Given the description of an element on the screen output the (x, y) to click on. 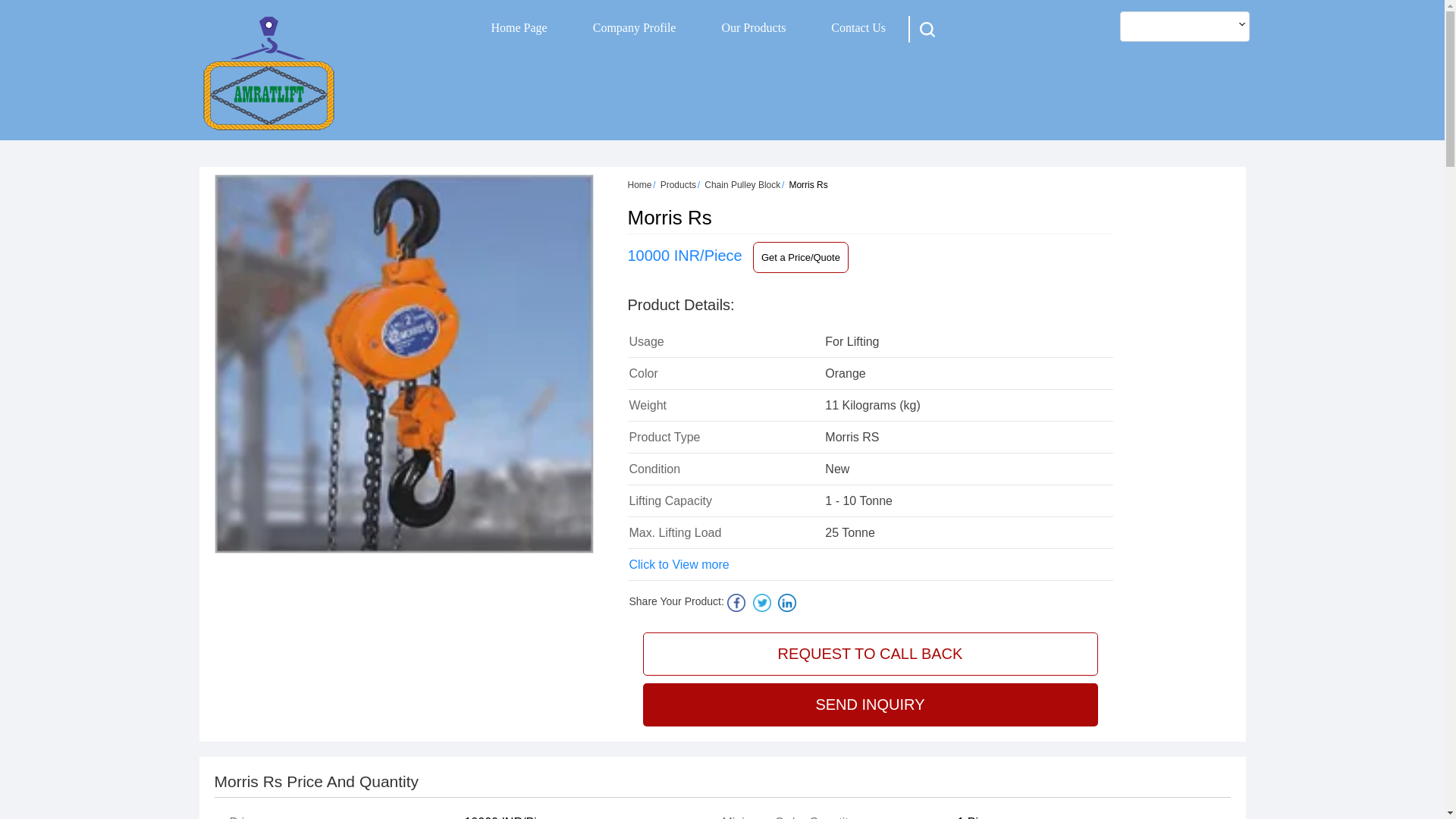
Company Profile (634, 27)
Our Products (753, 27)
AMRATLAL CHHAGANLAL  (268, 73)
Home Page (519, 27)
Contact Us (858, 27)
